Given the description of an element on the screen output the (x, y) to click on. 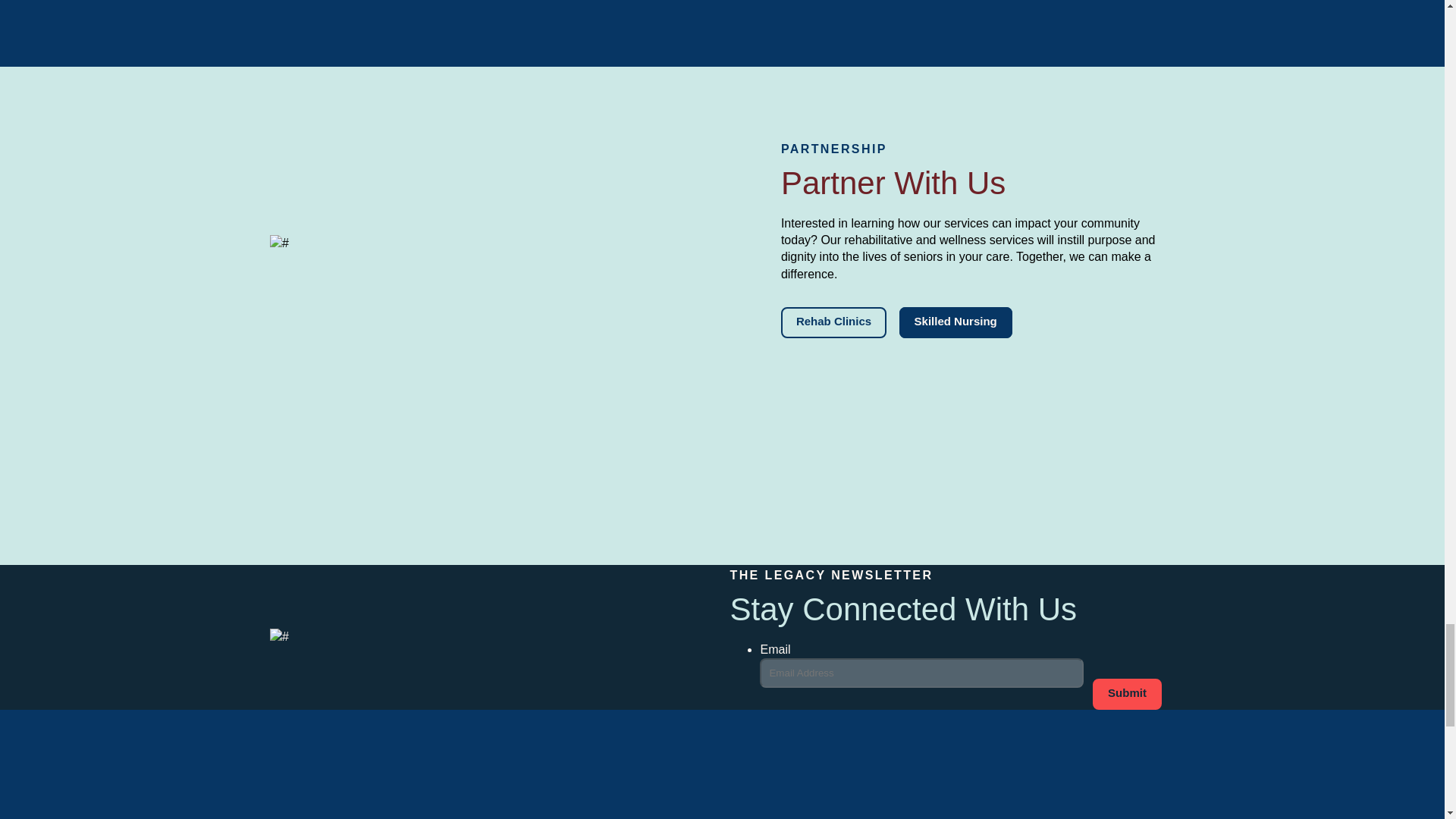
Submit (1127, 694)
